Given the description of an element on the screen output the (x, y) to click on. 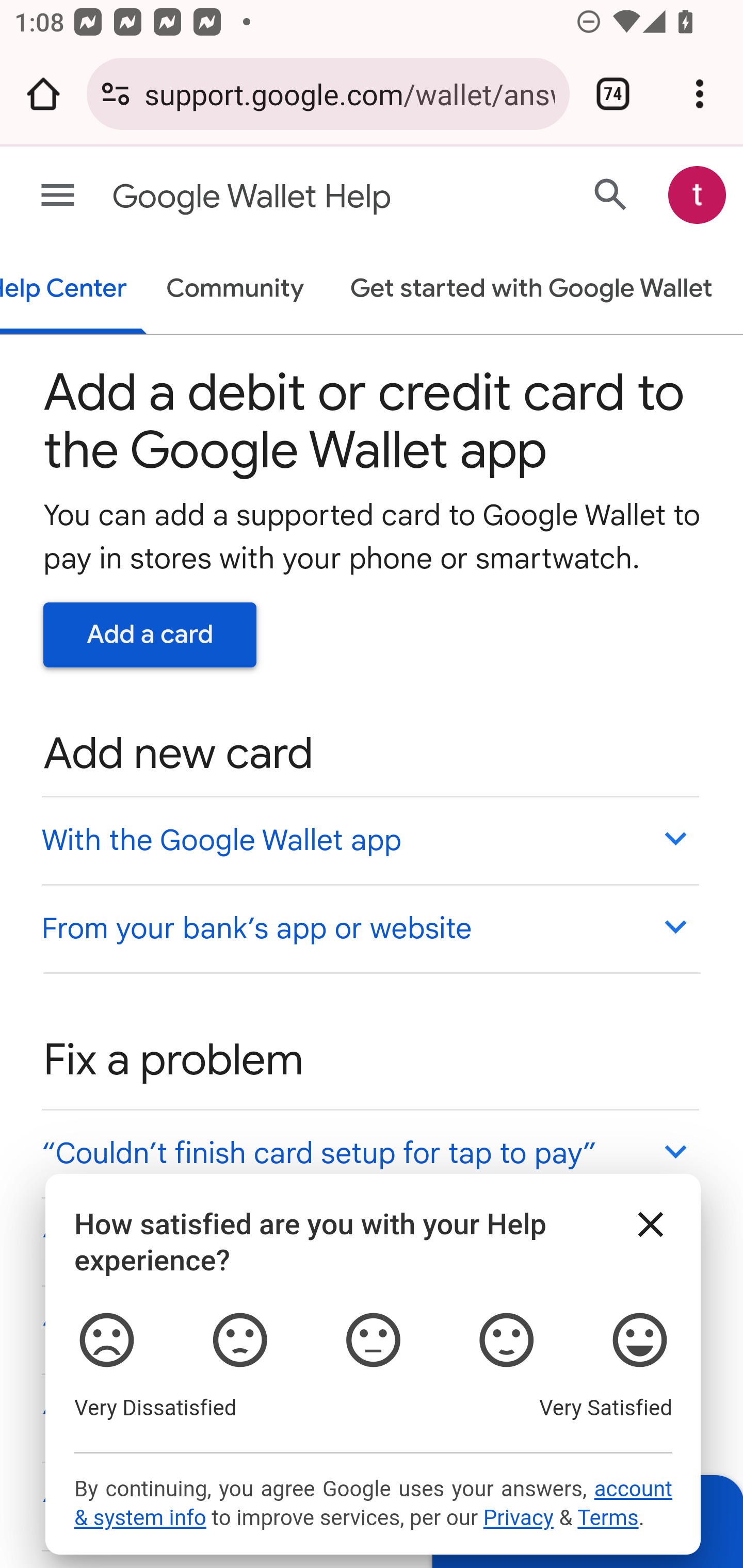
Open the home page (43, 93)
Connection is secure (115, 93)
Switch or close tabs (612, 93)
Customize and control Google Chrome (699, 93)
Main menu (58, 195)
Google Wallet Help (292, 197)
Search Help Center (611, 194)
Help Center (73, 289)
Community (235, 289)
Get started with Google Wallet (530, 289)
Add a card (150, 633)
With the Google Wallet app (369, 839)
From your bank’s app or website (369, 927)
“Couldn’t finish card setup for tap to pay” (369, 1152)
Close user survey dialog (650, 1224)
Smiley 1 of 5. Very dissatisfied Very Dissatisfied (106, 1340)
Smiley 2 of 5. Somewhat dissatisfied (238, 1340)
Smiley 3 of 5. Neither satisfied nor dissatisfied (372, 1340)
Smiley 4 of 5. Somewhat satisfied (506, 1340)
Smiley 5 of 5. Very satisfied Very Satisfied (639, 1340)
account & system info (372, 1504)
Privacy, Opens in new tab Privacy (518, 1518)
Terms, Opens in new tab Terms (606, 1518)
